Given the description of an element on the screen output the (x, y) to click on. 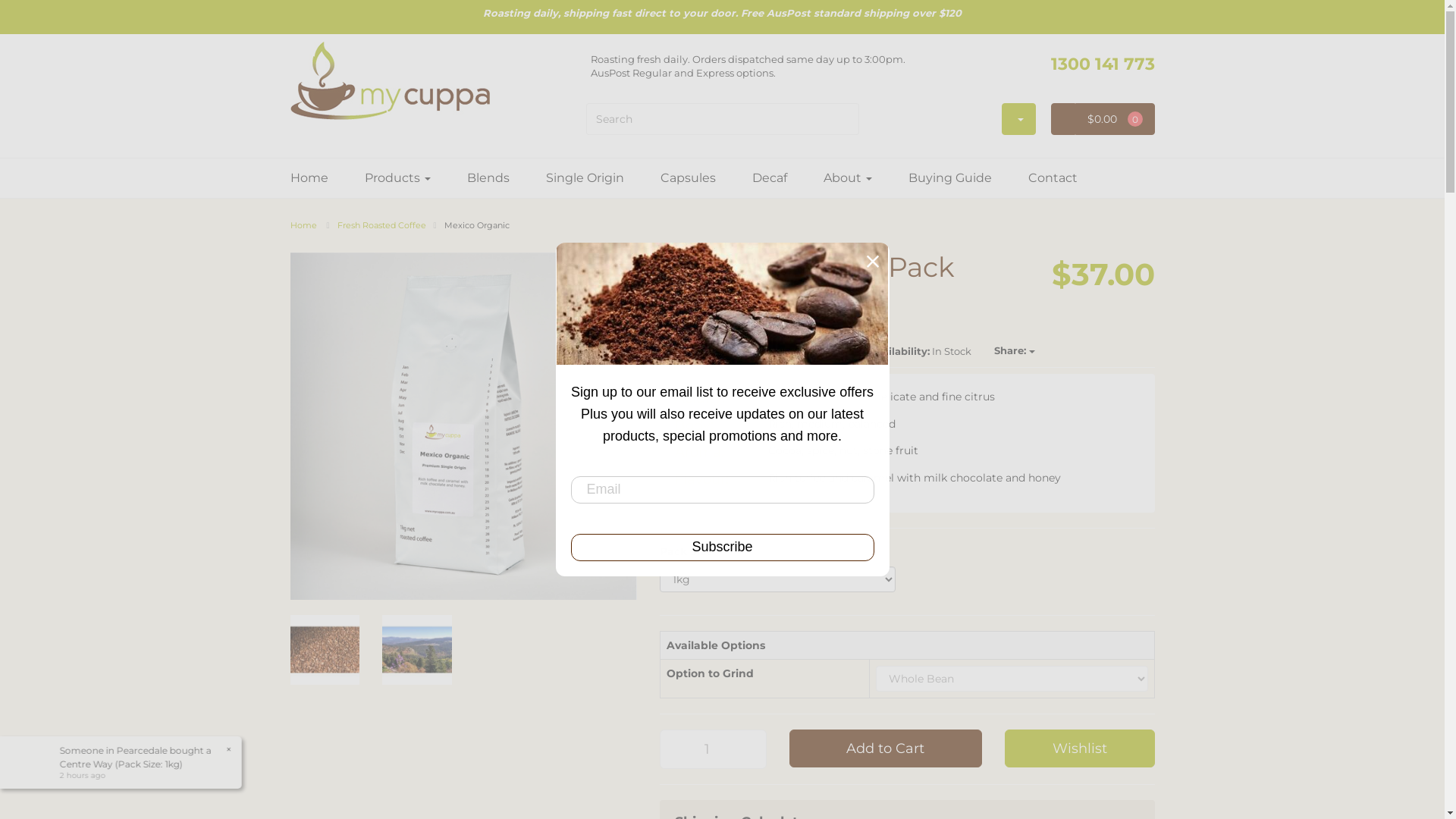
Home Element type: text (317, 177)
Single Origin Element type: text (584, 177)
Contact Element type: text (1052, 177)
Products Element type: text (396, 177)
Fresh Roasted Coffee Element type: text (381, 224)
About Element type: text (847, 177)
Share: Element type: text (1014, 350)
Home Element type: text (302, 224)
Decaf Element type: text (769, 177)
Capsules Element type: text (687, 177)
Large View Element type: hover (324, 649)
$0.00 0 Element type: text (1114, 118)
Blends Element type: text (487, 177)
Large View Element type: hover (416, 649)
Mexico Organic Element type: text (476, 224)
Wishlist Element type: text (1079, 748)
Add to Cart Element type: text (885, 748)
Buying Guide Element type: text (950, 177)
Search Element type: text (849, 118)
mycuppa.com.au Element type: hover (389, 75)
